Given the description of an element on the screen output the (x, y) to click on. 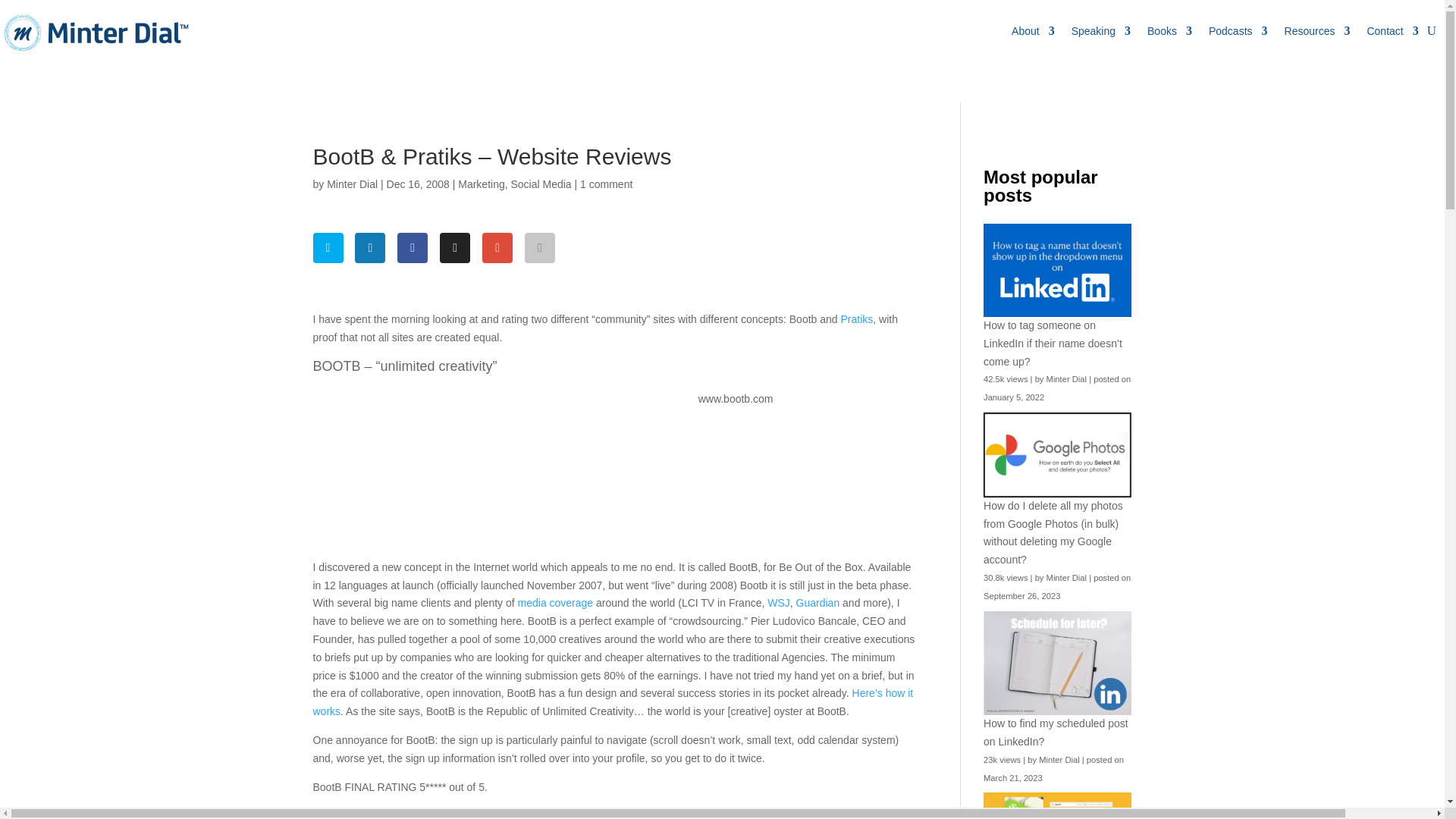
Contact (1392, 30)
Speaking (1101, 30)
Podcasts (1238, 30)
Posts by Minter Dial (351, 184)
Resources (1317, 30)
